Given the description of an element on the screen output the (x, y) to click on. 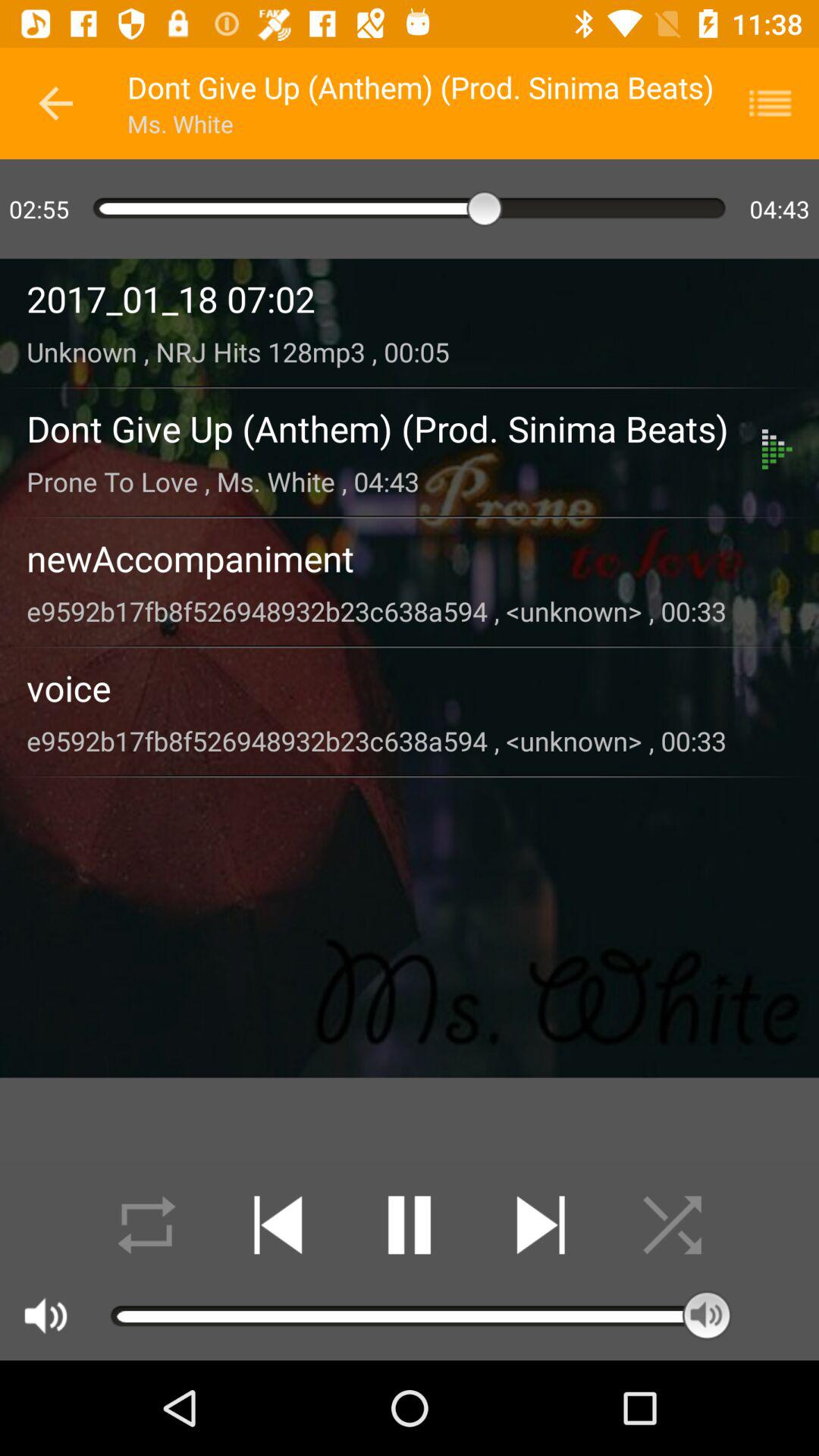
shuffle (672, 1224)
